Given the description of an element on the screen output the (x, y) to click on. 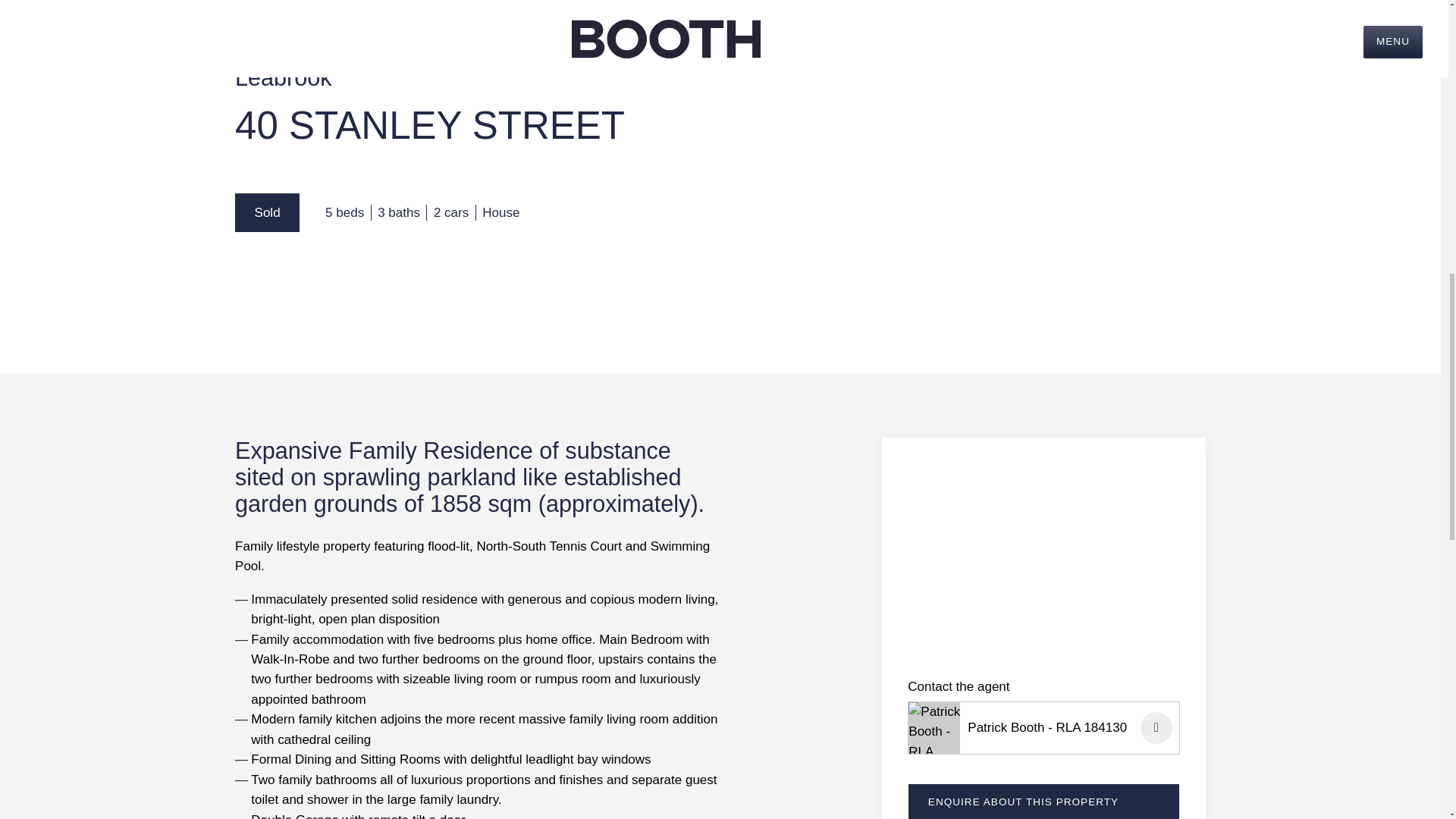
Patrick Booth - RLA 184130 (1054, 727)
ENQUIRE ABOUT THIS PROPERTY (1043, 800)
